Given the description of an element on the screen output the (x, y) to click on. 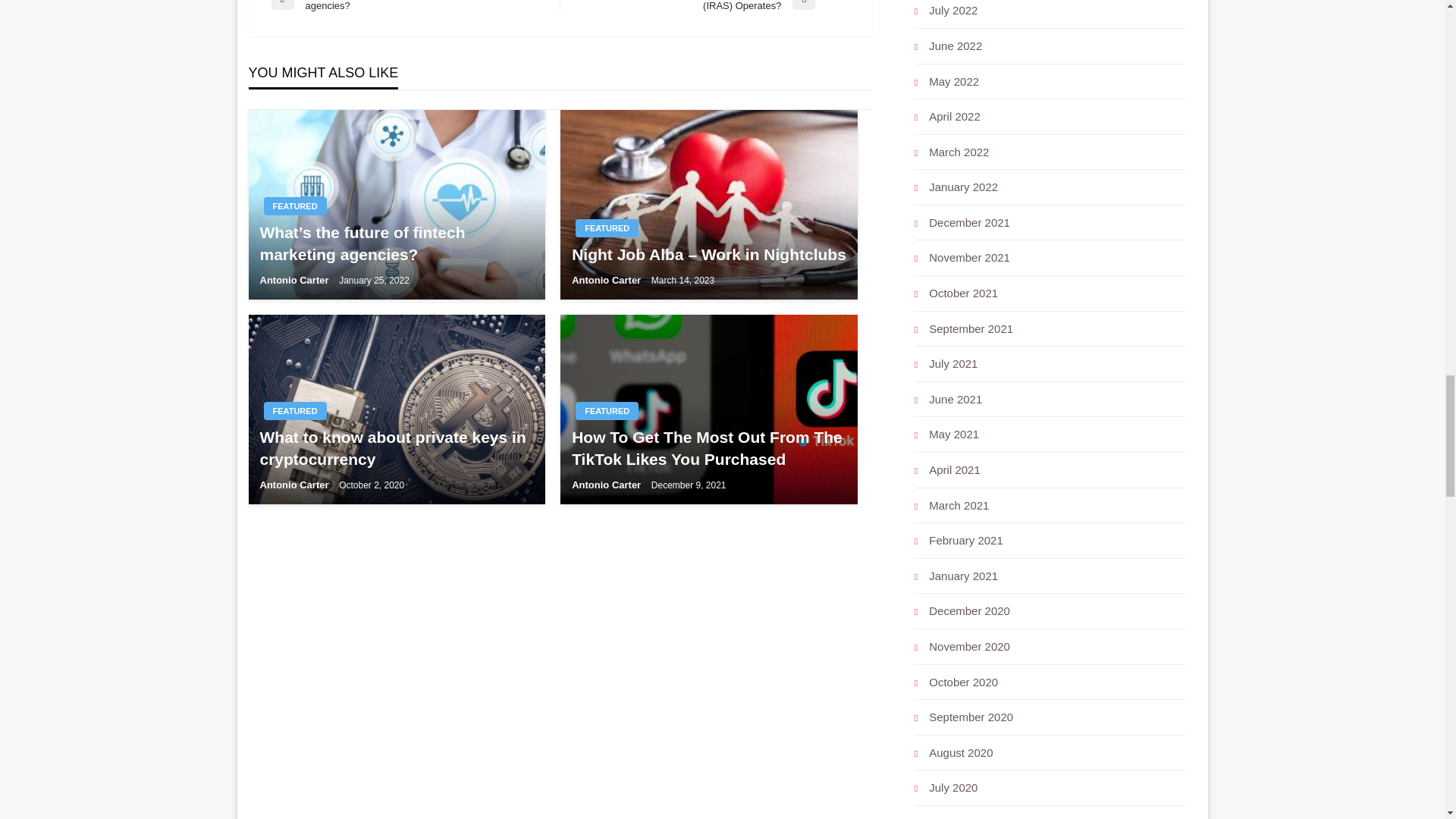
Antonio Carter (295, 484)
FEATURED (294, 411)
Antonio Carter (295, 279)
What to know about private keys in cryptocurrency (396, 447)
FEATURED (607, 228)
Antonio Carter (607, 279)
FEATURED (294, 206)
